Given the description of an element on the screen output the (x, y) to click on. 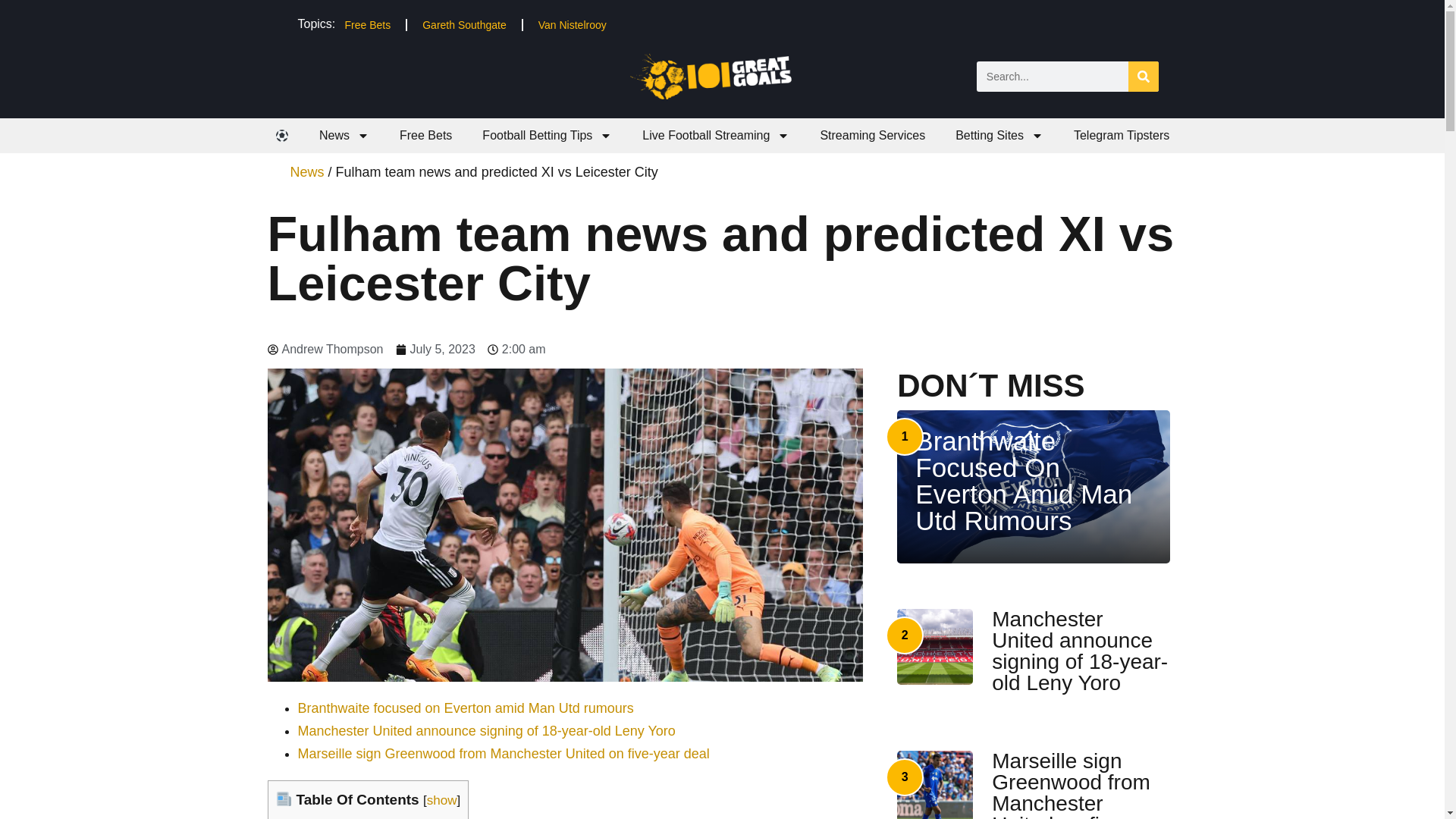
Gareth Southgate (464, 24)
Betting Sites (999, 135)
Streaming Services (872, 135)
Free Bets (367, 24)
Live Football Streaming (716, 135)
Van Nistelrooy (571, 24)
News (344, 135)
Football Betting Tips (547, 135)
Free Bets (425, 135)
